Given the description of an element on the screen output the (x, y) to click on. 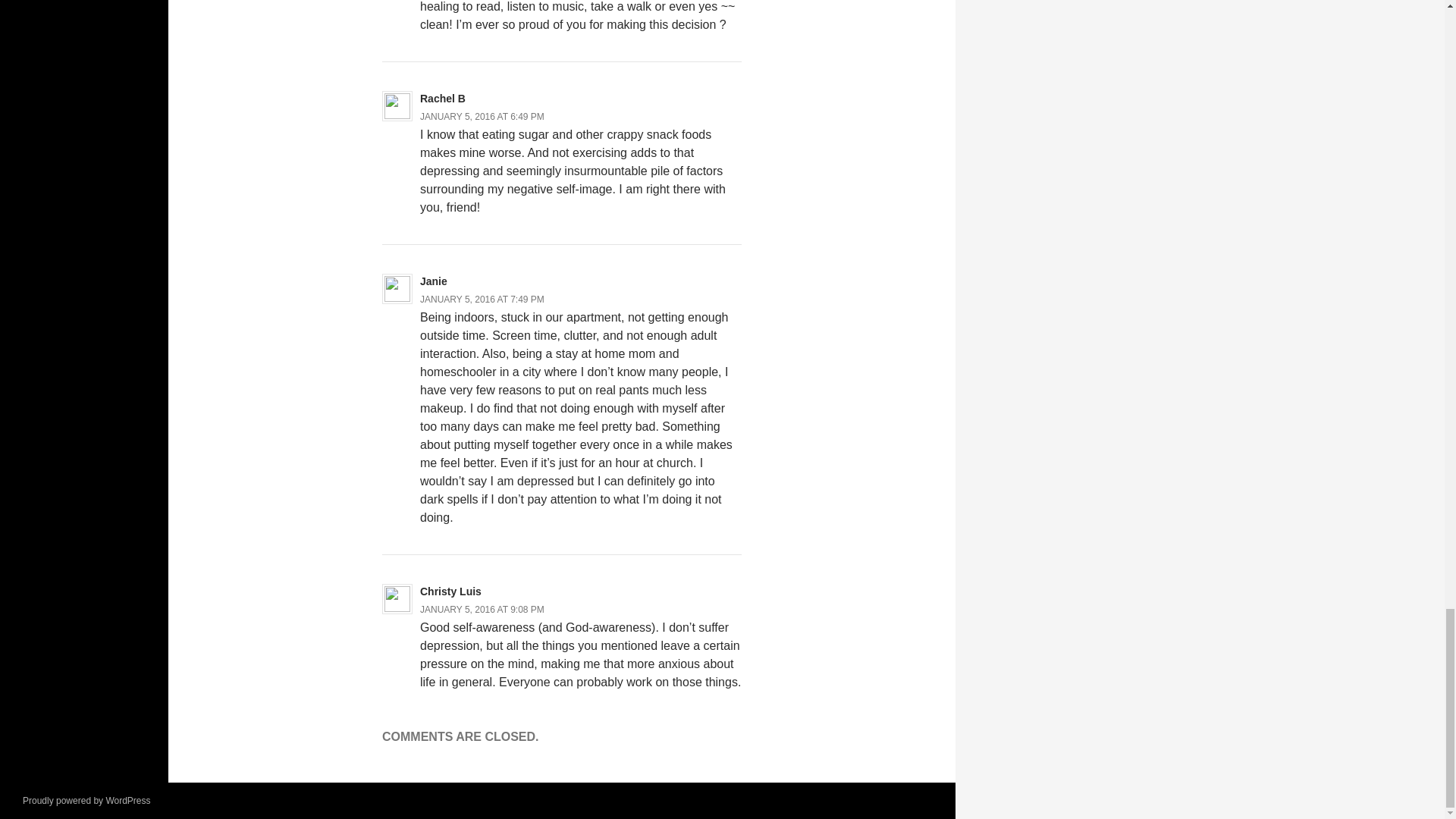
Christy Luis (450, 591)
JANUARY 5, 2016 AT 7:49 PM (482, 299)
JANUARY 5, 2016 AT 9:08 PM (482, 609)
JANUARY 5, 2016 AT 6:49 PM (482, 116)
